Given the description of an element on the screen output the (x, y) to click on. 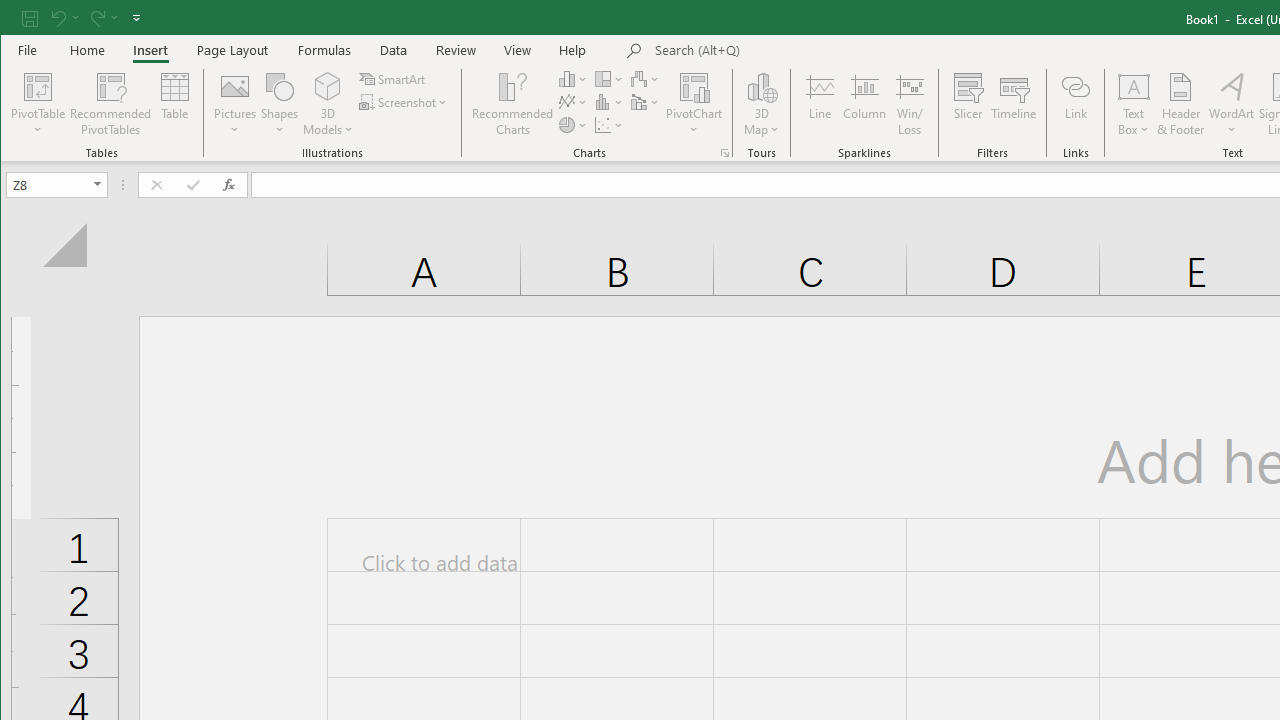
Link (1075, 104)
Insert Waterfall, Funnel, Stock, Surface, or Radar Chart (646, 78)
3D Models (327, 86)
Recommended PivotTables (110, 104)
Insert Pie or Doughnut Chart (573, 124)
Header & Footer... (1180, 104)
PivotChart (694, 104)
